Given the description of an element on the screen output the (x, y) to click on. 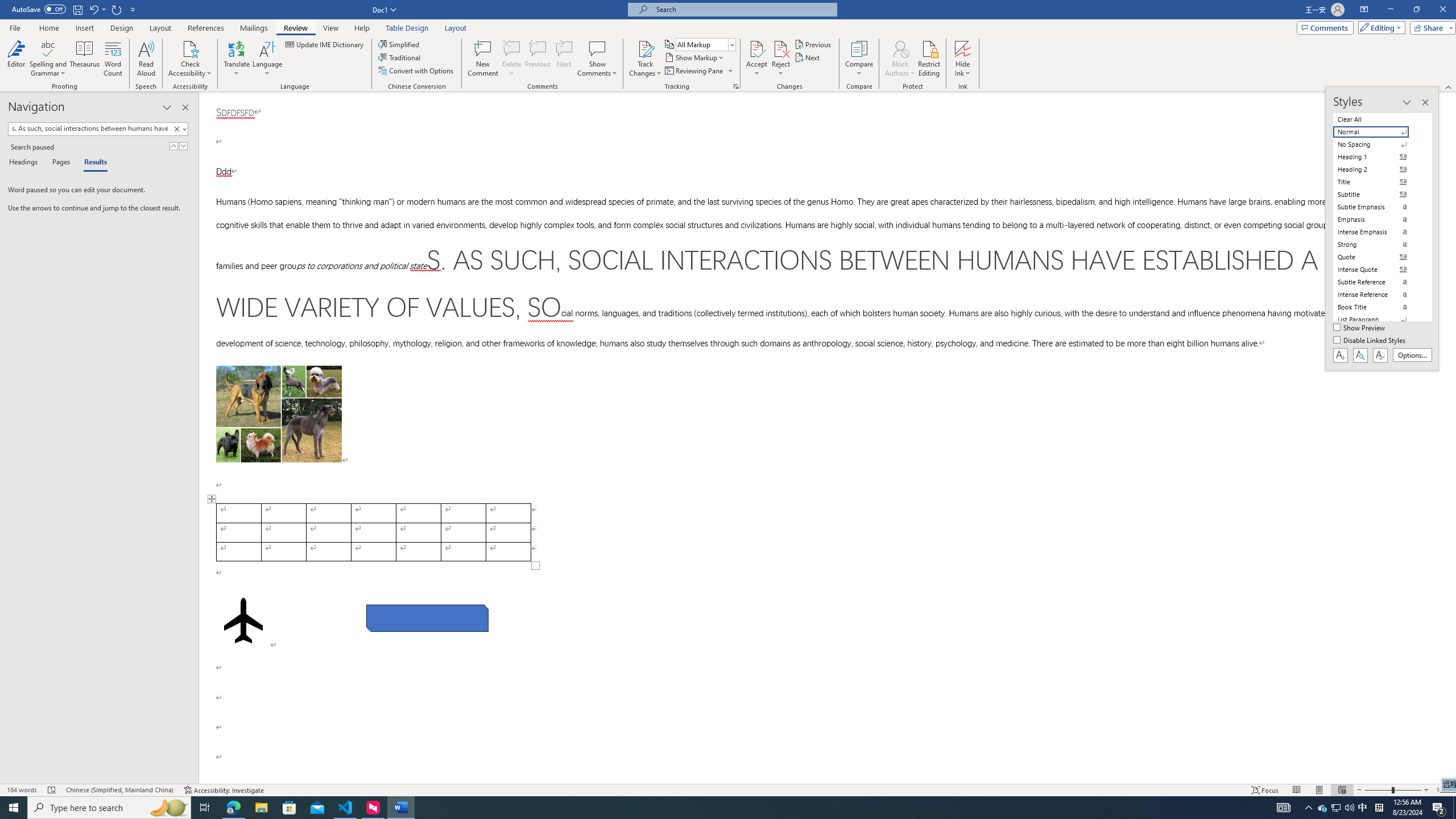
Intense Quote (1377, 269)
Language (267, 58)
Spelling and Grammar (48, 58)
Update IME Dictionary... (324, 44)
Previous (813, 44)
Class: NetUIButton (1380, 355)
Reviewing Pane (694, 69)
Display for Review (705, 44)
Intense Emphasis (1377, 232)
